Given the description of an element on the screen output the (x, y) to click on. 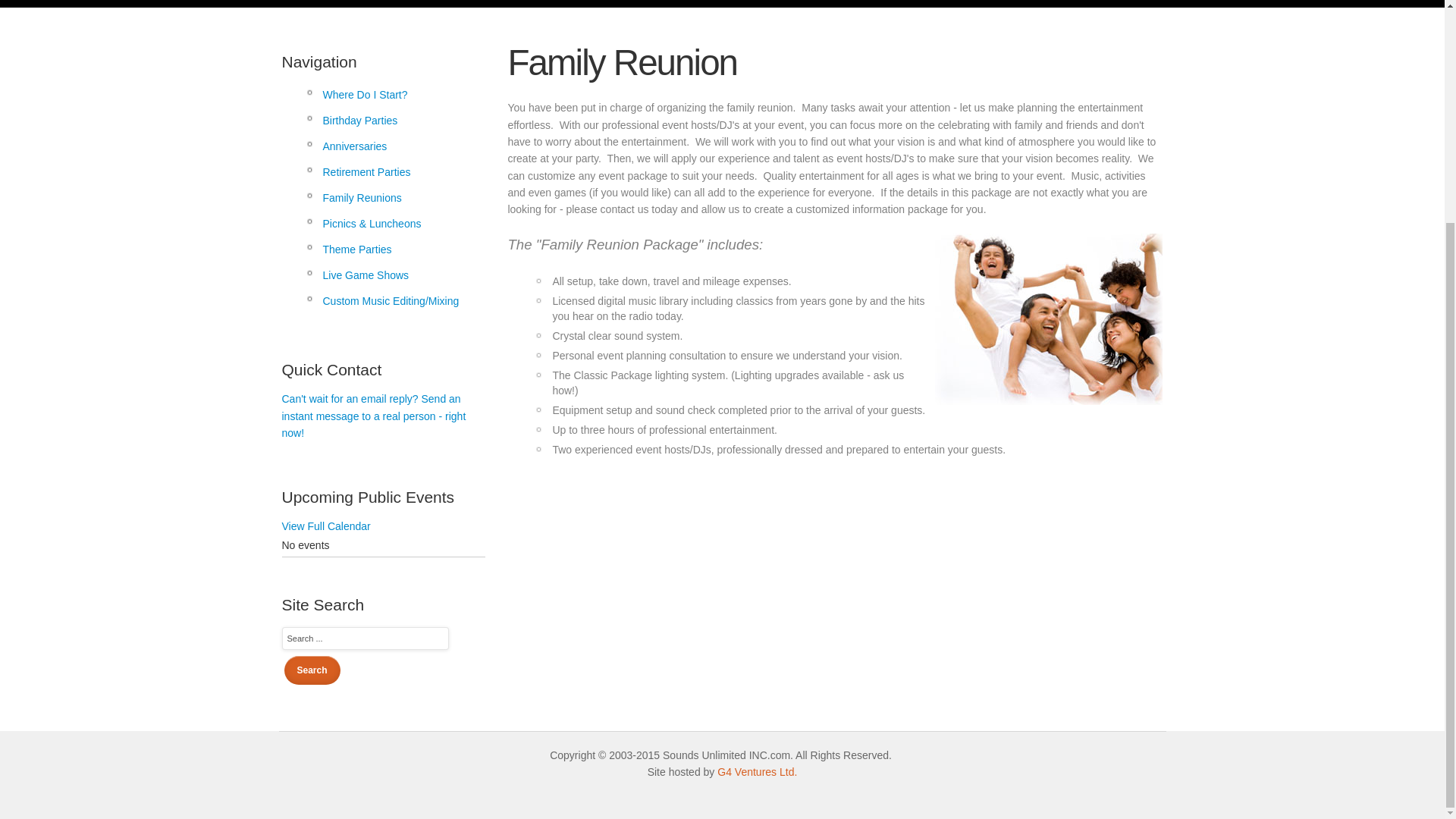
Birthday Parties (394, 120)
Anniversaries (394, 146)
Live Game Shows (394, 274)
G4 Ventures Ltd. (756, 771)
Retirement Parties (394, 171)
Search ... (365, 638)
View Full Calendar (326, 526)
Search (311, 670)
Search (311, 670)
